Given the description of an element on the screen output the (x, y) to click on. 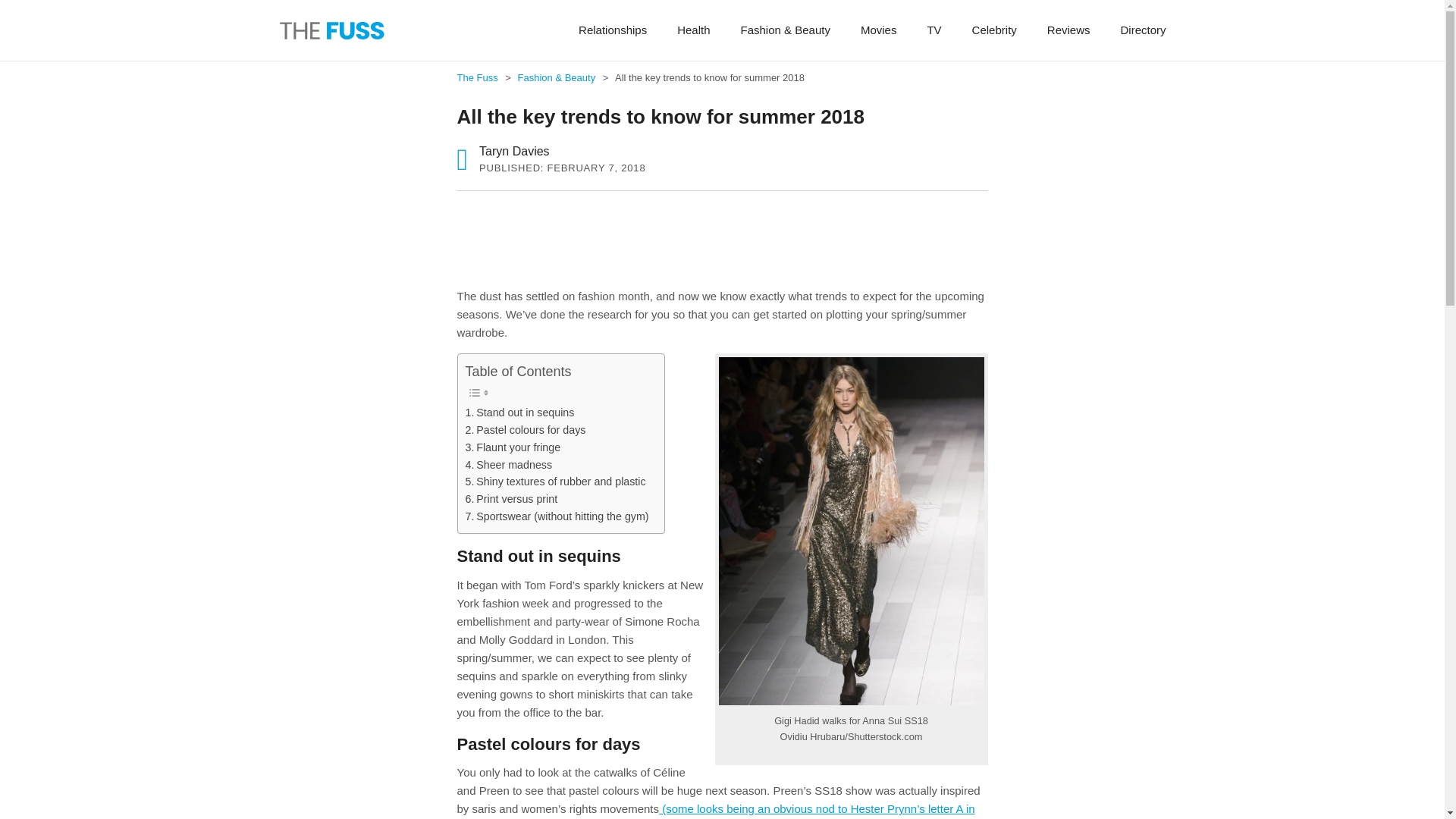
Relationships (612, 30)
Reviews (1068, 30)
Go to The Fuss. (478, 77)
Print versus print  (511, 498)
Sheer madness (509, 465)
Health (693, 30)
Celebrity (994, 30)
Shiny textures of rubber and plastic  (555, 481)
Pastel colours for days  (525, 429)
